Given the description of an element on the screen output the (x, y) to click on. 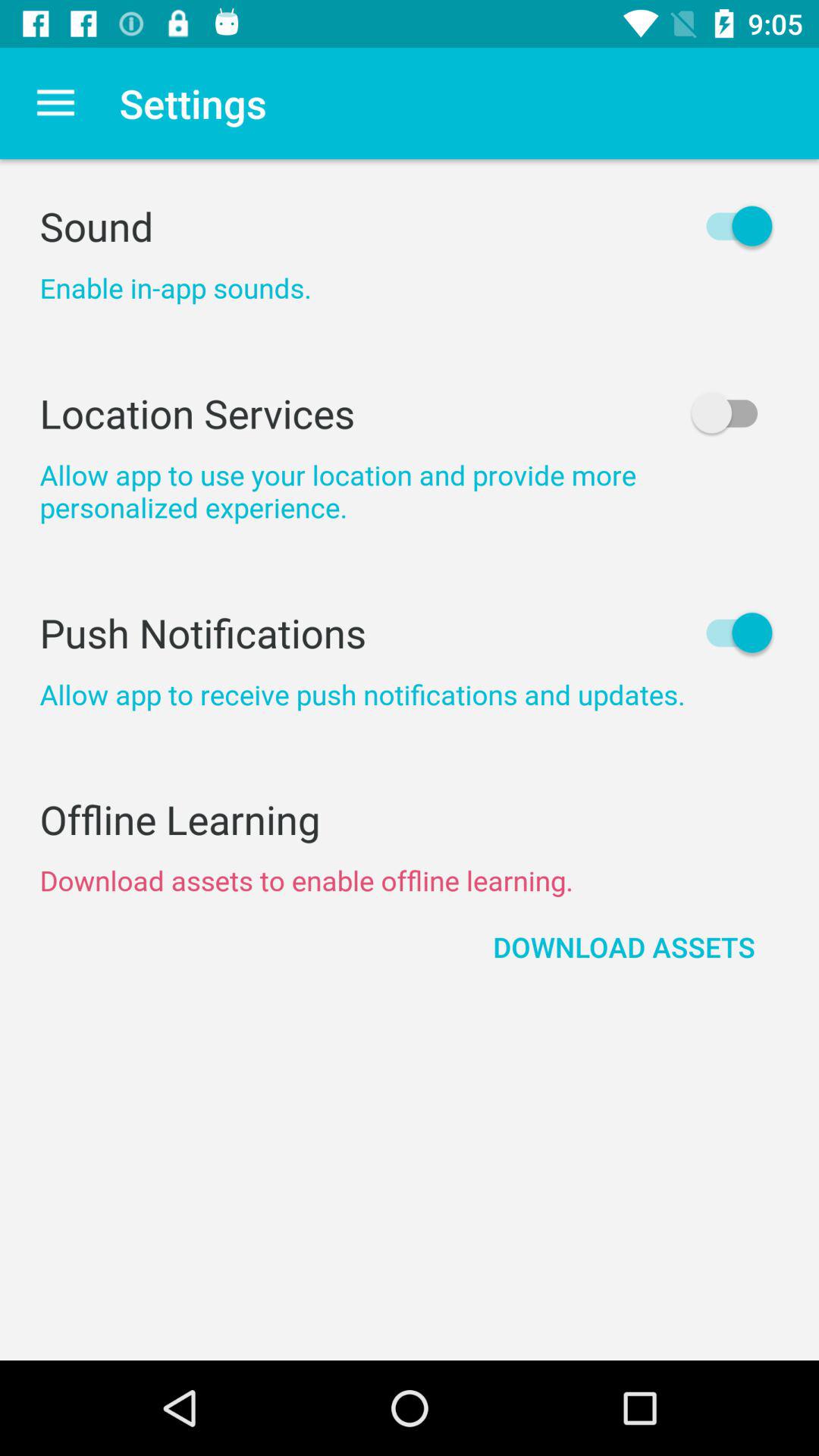
flip to the location services icon (409, 413)
